Given the description of an element on the screen output the (x, y) to click on. 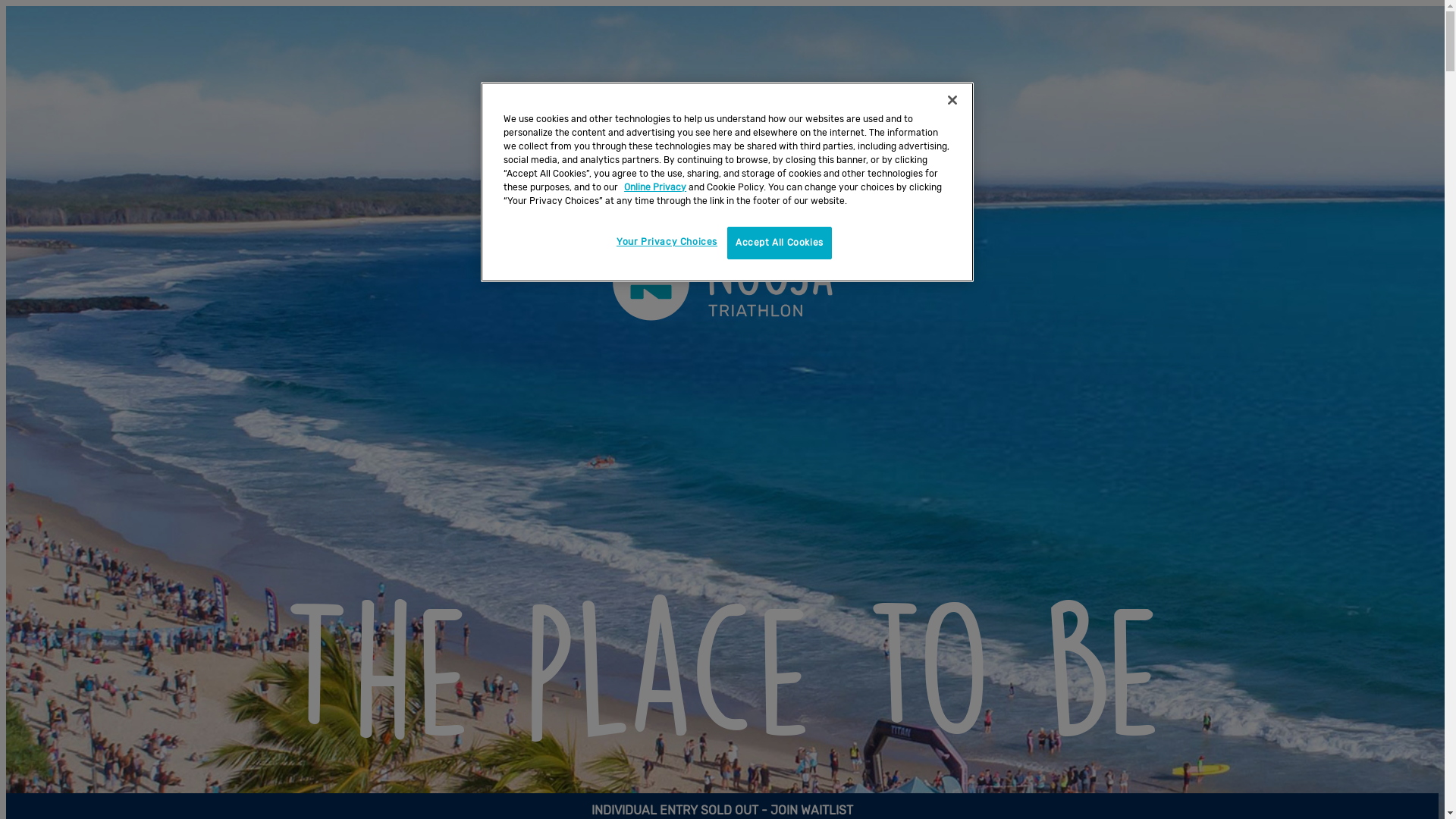
Online Privacy Element type: text (655, 187)
WATCH VIDEO Element type: text (721, 808)
Accept All Cookies Element type: text (779, 242)
Your Privacy Choices Element type: text (666, 241)
